Given the description of an element on the screen output the (x, y) to click on. 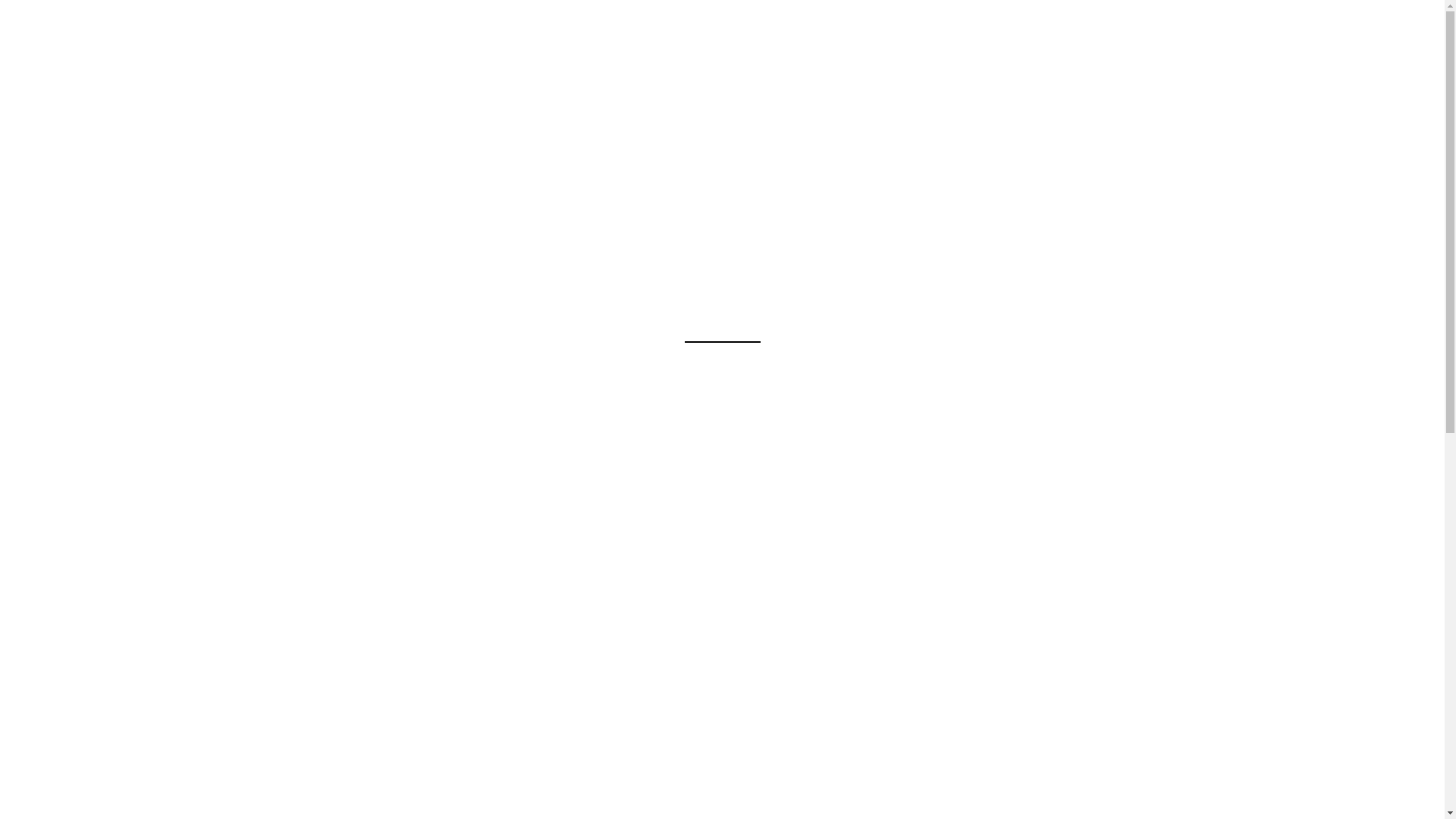
PRODUCTOS Element type: text (361, 28)
Visa Element type: hover (774, 780)
CHASSIS 3D CARBONO Element type: text (647, 785)
Transferencia bancaria Element type: hover (740, 780)
Volver al listado Element type: text (721, 79)
HOME Element type: text (305, 67)
TIENDA ONLINE Element type: text (329, 82)
Videos Element type: text (305, 112)
0 Element type: text (1135, 30)
Chassis 3D, Courage C65 . For SPIRIT Body. Element type: text (414, 142)
HOME Element type: text (302, 28)
Bizum Element type: text (820, 780)
SOBRE 3D SRP Element type: text (328, 97)
CONTACTO Element type: text (318, 143)
